Given the description of an element on the screen output the (x, y) to click on. 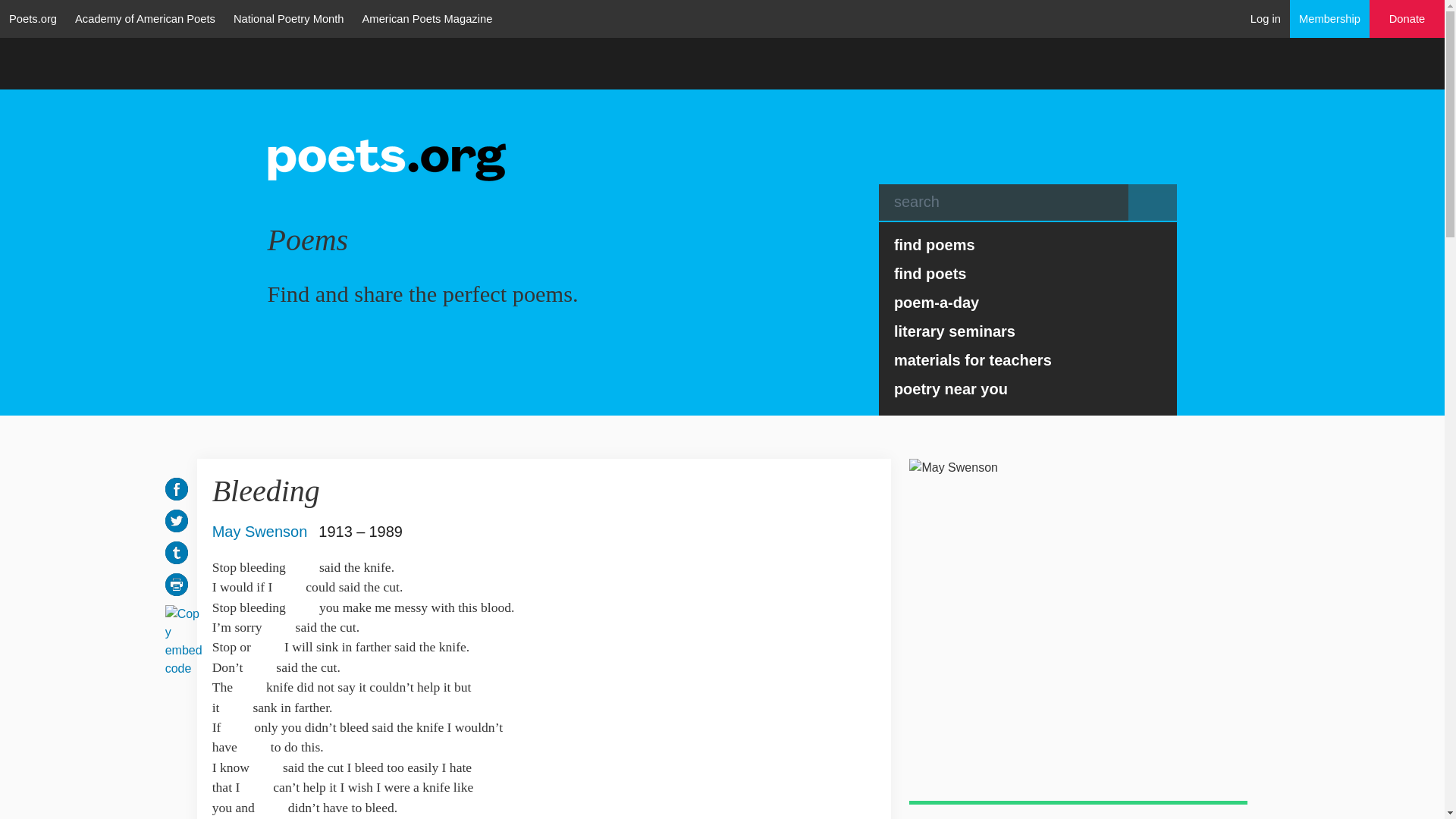
find poets (1028, 273)
Share on Tumblr (176, 552)
Share on Twitter (176, 520)
Membership (1330, 18)
poetry near you (1028, 388)
Log in (1265, 18)
poem-a-day (1028, 302)
Support the mission of the Academy of American Poets (1407, 18)
literary seminars (1028, 330)
Poets.org (32, 18)
